Given the description of an element on the screen output the (x, y) to click on. 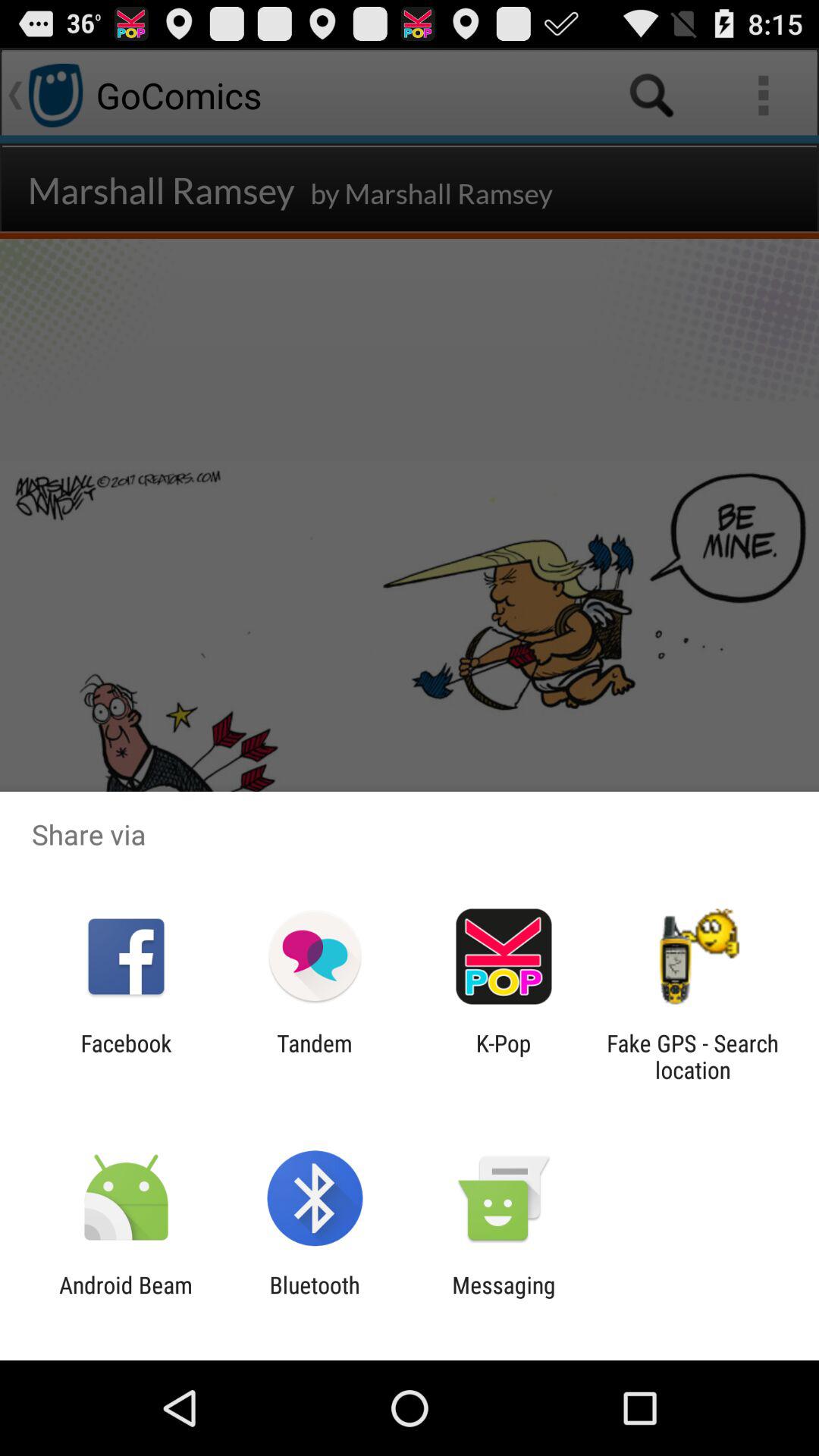
tap the item next to the facebook app (314, 1056)
